Given the description of an element on the screen output the (x, y) to click on. 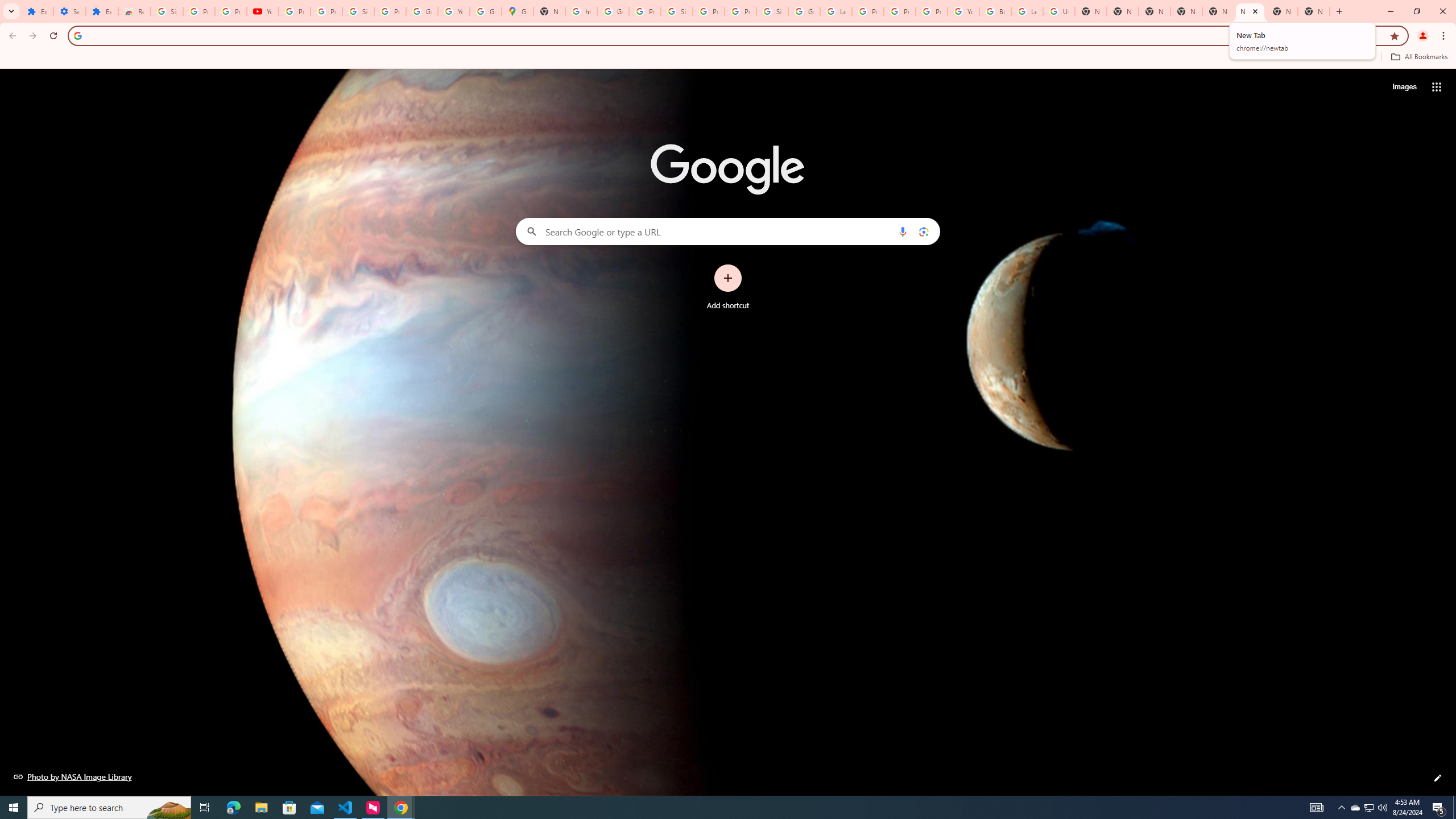
Photo by NASA Image Library (72, 776)
YouTube (453, 11)
